Given the description of an element on the screen output the (x, y) to click on. 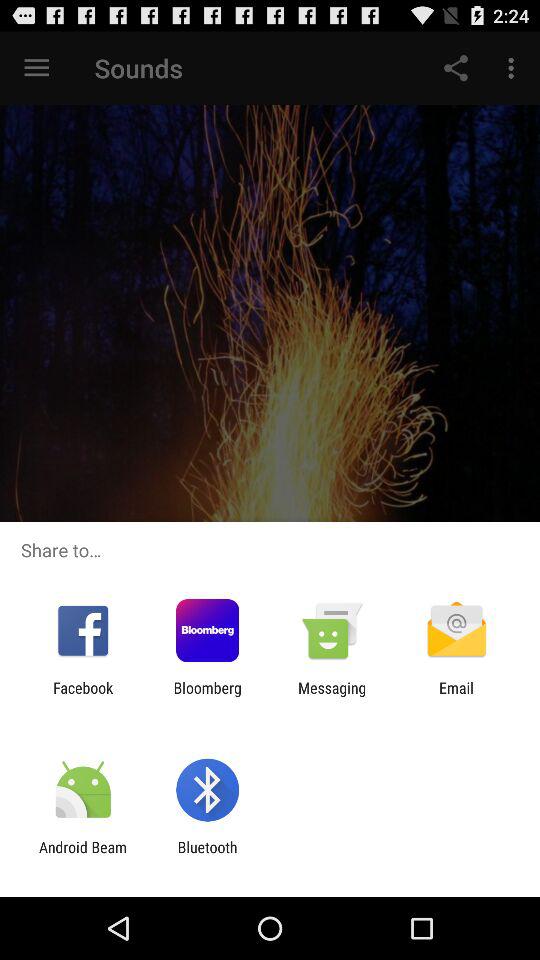
press icon next to the bloomberg item (83, 696)
